Given the description of an element on the screen output the (x, y) to click on. 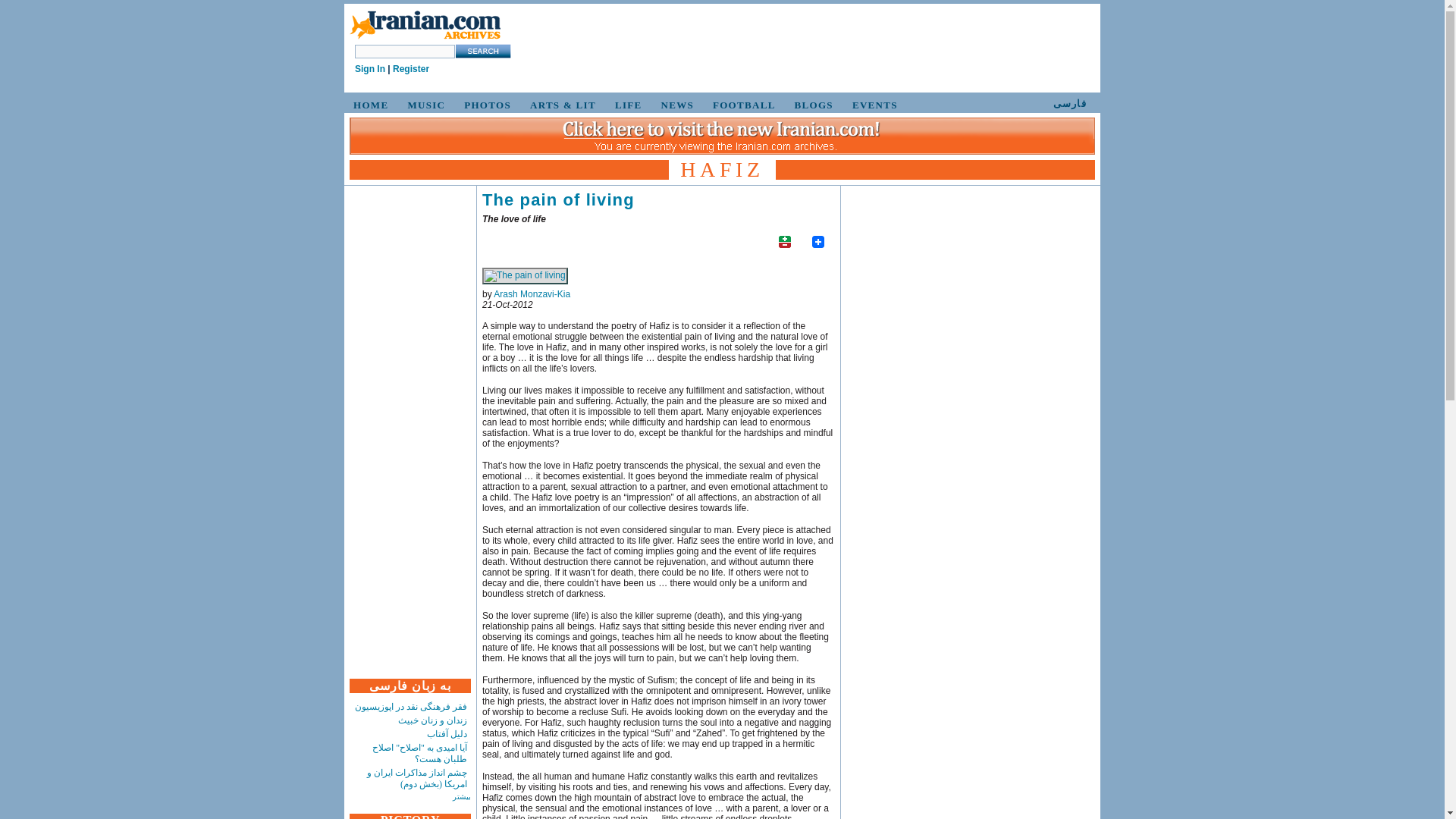
Home (424, 40)
NEWS (674, 105)
HOME (368, 105)
BLOGS (812, 105)
LIFE (625, 105)
Search this Site (483, 51)
View user profile. (531, 294)
FOOTBALL (741, 105)
EVENTS (872, 105)
Register (411, 68)
